Given the description of an element on the screen output the (x, y) to click on. 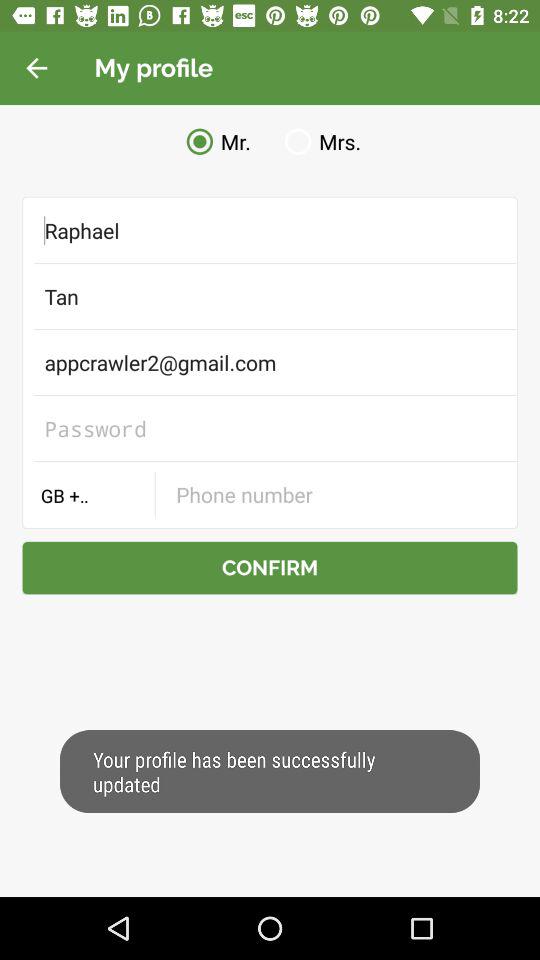
enter password (269, 428)
